Given the description of an element on the screen output the (x, y) to click on. 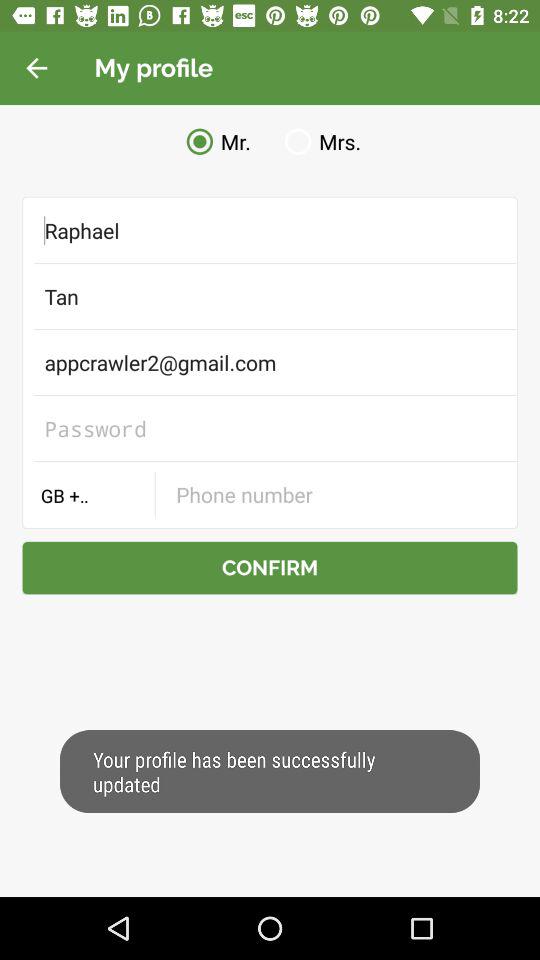
enter password (269, 428)
